Given the description of an element on the screen output the (x, y) to click on. 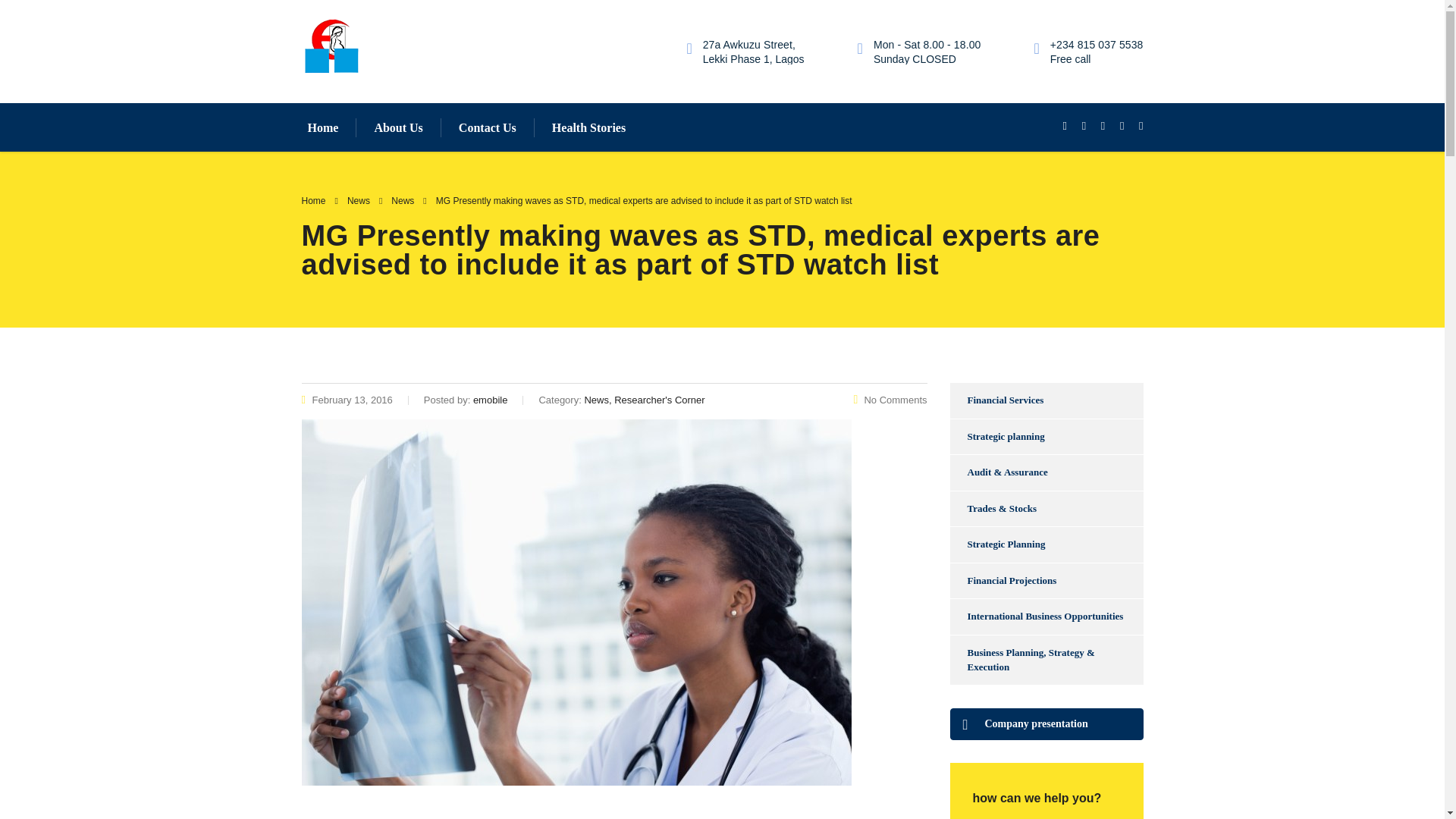
Strategic planning (996, 437)
Financial Services (996, 400)
Home (313, 200)
Go to the News category archives. (402, 200)
News (358, 200)
News (402, 200)
Health Stories (588, 127)
Home (322, 127)
No Comments (890, 399)
Contact Us (487, 127)
Go to Emobileclinic. (313, 200)
Go to News. (358, 200)
About Us (397, 127)
